Given the description of an element on the screen output the (x, y) to click on. 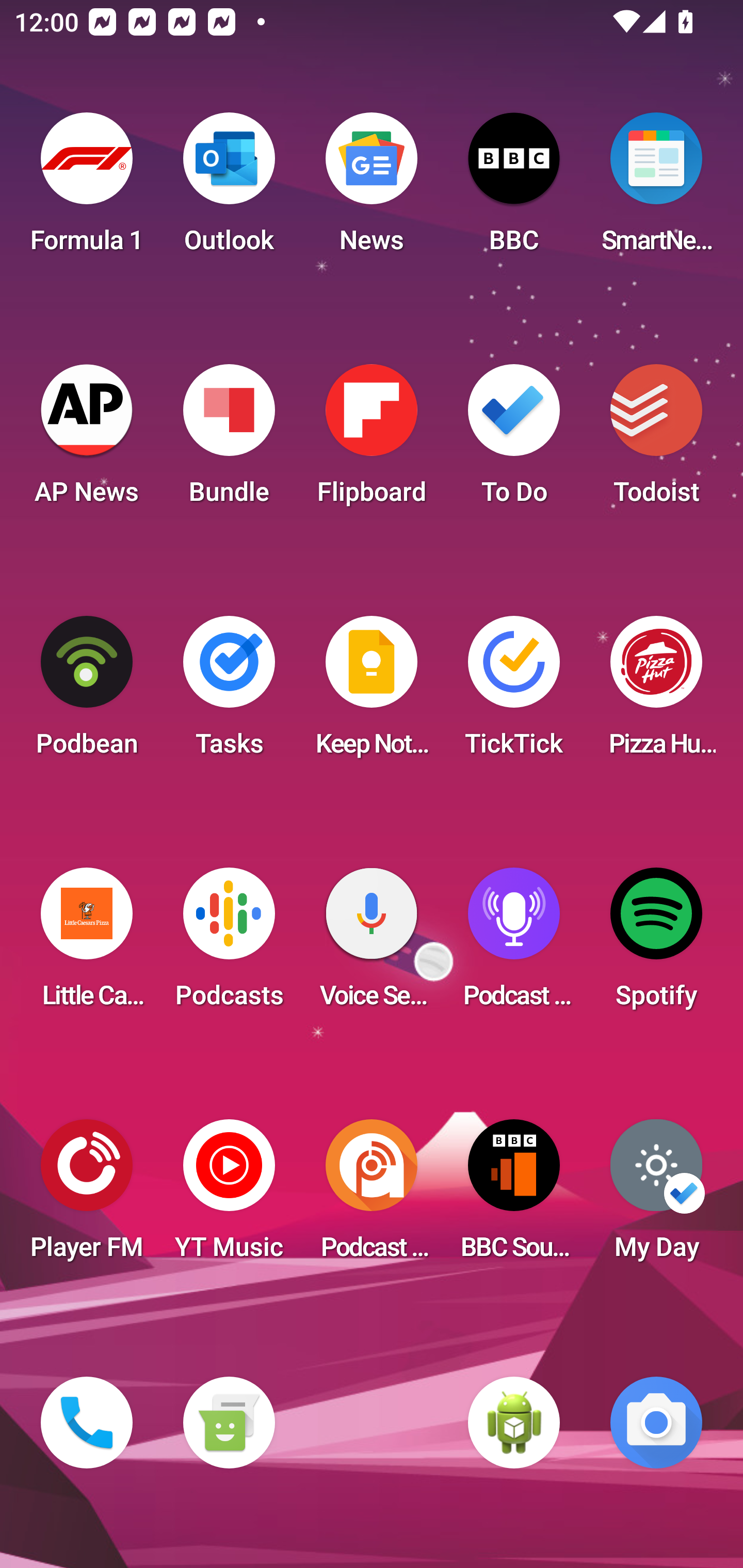
Formula 1 (86, 188)
Outlook (228, 188)
News (371, 188)
BBC (513, 188)
SmartNews (656, 188)
AP News (86, 440)
Bundle (228, 440)
Flipboard (371, 440)
To Do (513, 440)
Todoist (656, 440)
Podbean (86, 692)
Tasks (228, 692)
Keep Notes (371, 692)
TickTick (513, 692)
Pizza Hut HK & Macau (656, 692)
Little Caesars Pizza (86, 943)
Podcasts (228, 943)
Voice Search (371, 943)
Podcast Player (513, 943)
Spotify (656, 943)
Player FM (86, 1195)
YT Music (228, 1195)
Podcast Addict (371, 1195)
BBC Sounds (513, 1195)
My Day (656, 1195)
Phone (86, 1422)
Messaging (228, 1422)
WebView Browser Tester (513, 1422)
Camera (656, 1422)
